Given the description of an element on the screen output the (x, y) to click on. 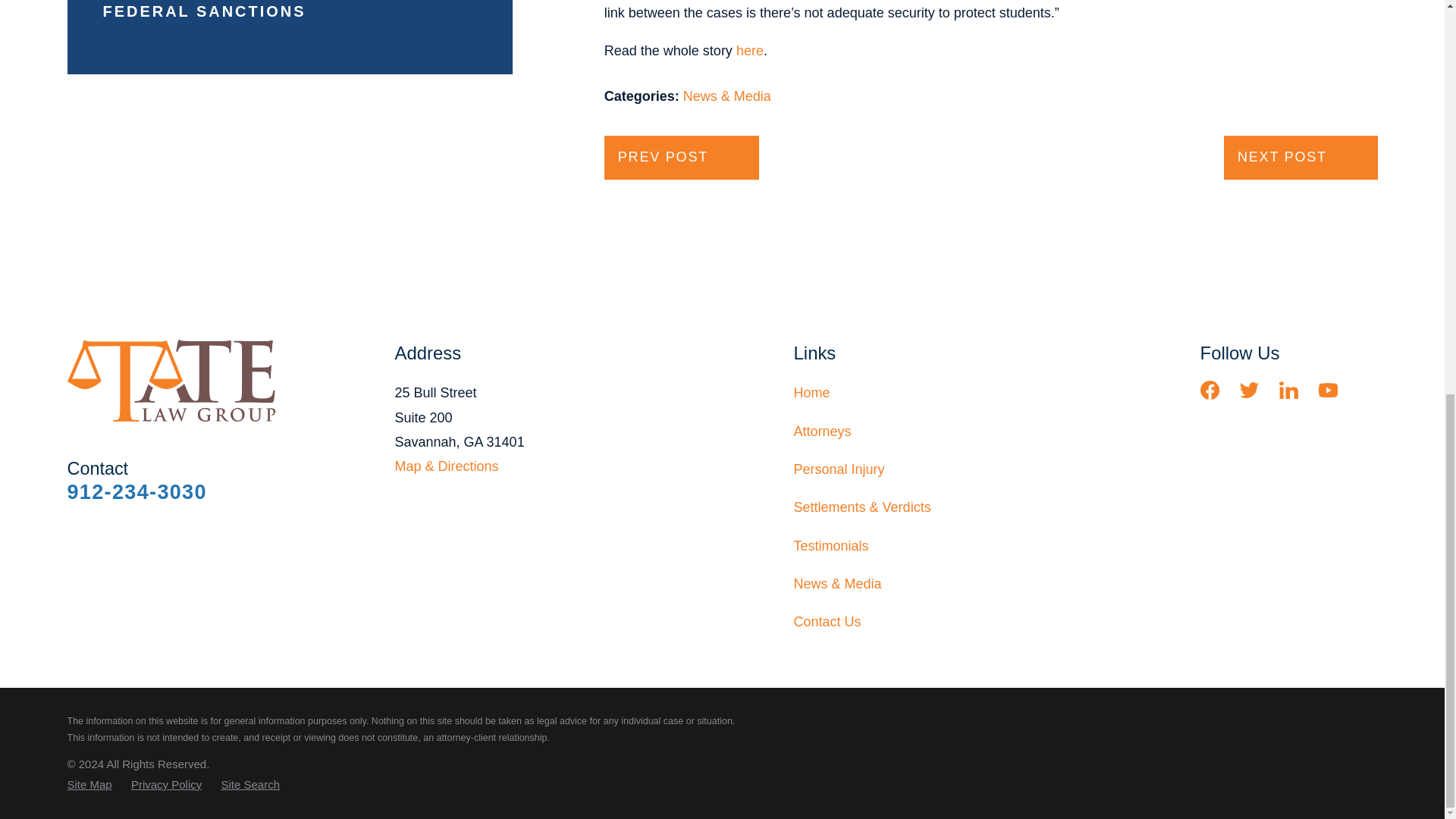
Home (175, 380)
Twitter (1249, 389)
Facebook (1209, 389)
Tate Law Group, LLC (170, 380)
